Given the description of an element on the screen output the (x, y) to click on. 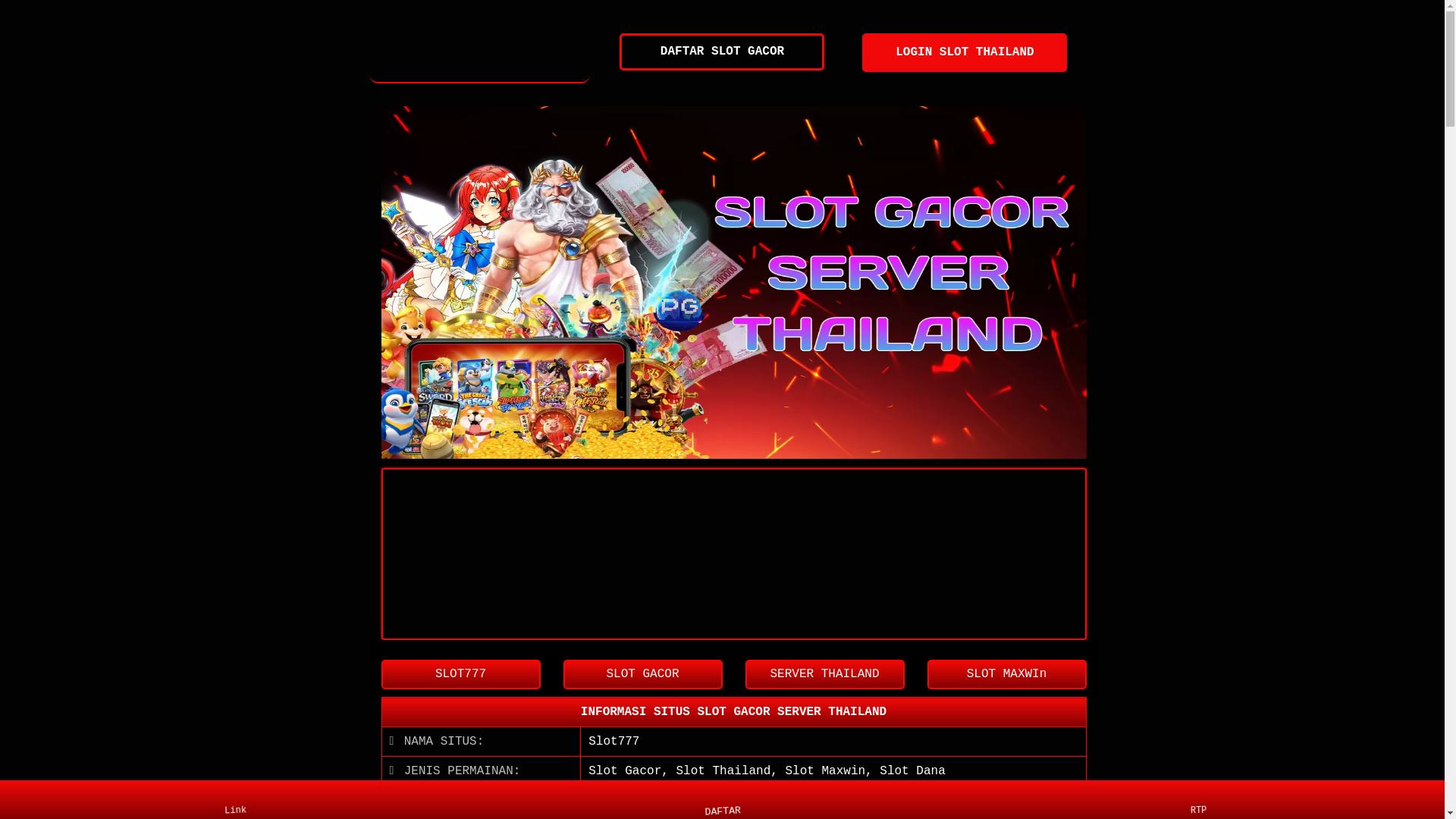
SLOT MAXWIn Element type: text (1005, 674)
LOGIN SLOT THAILAND Element type: text (964, 52)
SERVER THAILAND Element type: text (823, 674)
DAFTAR Element type: text (718, 796)
Previous item in carousel (1 of 1) Element type: hover (392, 282)
Link Element type: text (239, 799)
SLOT GACOR Element type: text (641, 674)
Slot777 Element type: text (613, 741)
Next item in carousel (1 of 1) Element type: hover (1073, 282)
Slot Gacor, Slot Thailand, Slot Maxwin, Slot Dana Element type: text (766, 771)
RTP Element type: text (1203, 799)
Slot Gacor Element type: hover (479, 52)
SLOT777 Element type: text (459, 674)
DAFTAR SLOT GACOR Element type: text (721, 51)
